Given the description of an element on the screen output the (x, y) to click on. 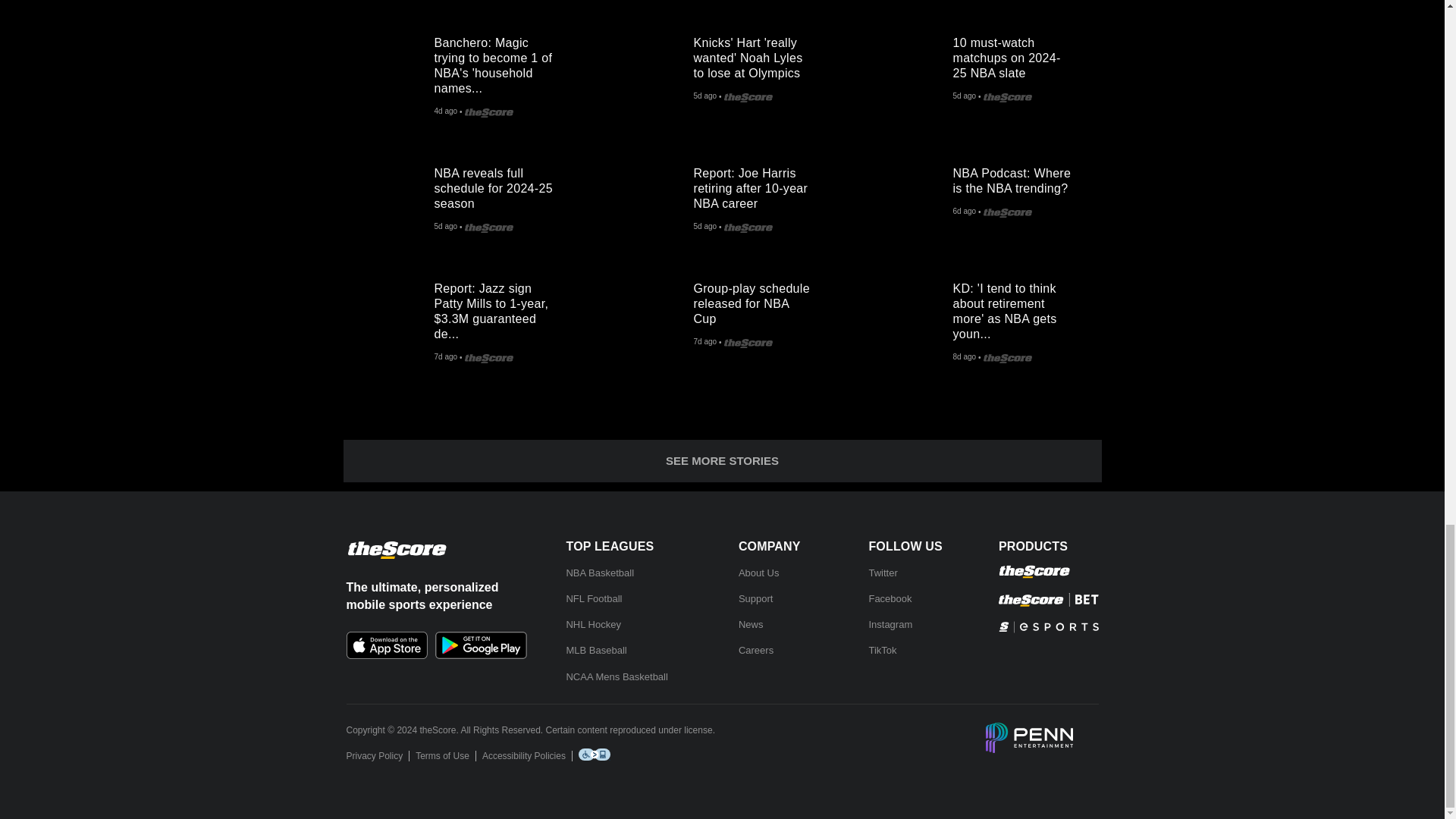
Knicks' Hart 'really wanted' Noah Lyles to lose at Olympics (647, 69)
2024-08-16T13:54:08.000Z (704, 96)
2024-08-16T19:45:45.000Z (445, 112)
10 must-watch matchups on 2024-25 NBA slate (906, 69)
